Given the description of an element on the screen output the (x, y) to click on. 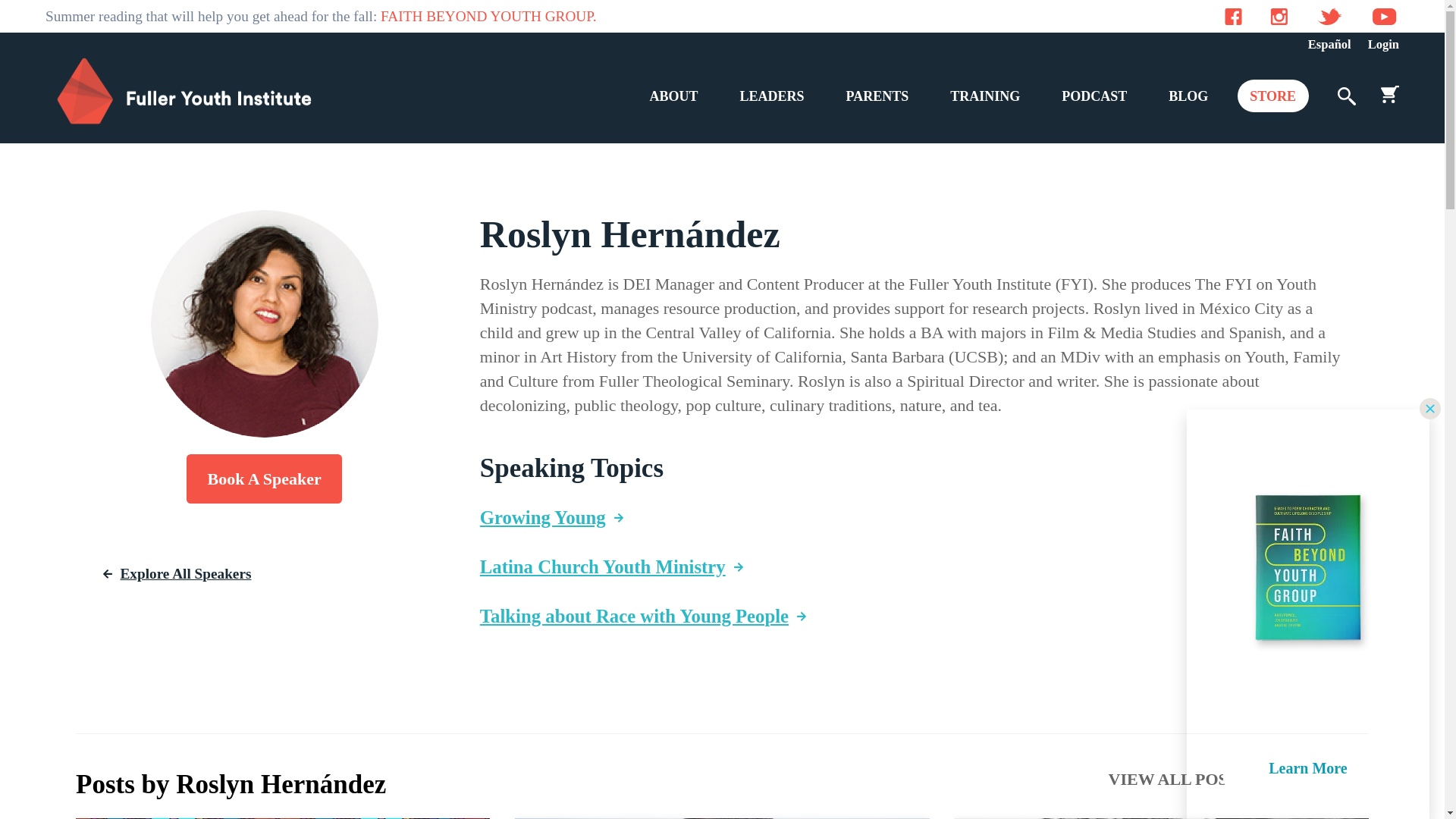
Twitter Feed for Fuller Youth Institute (1328, 15)
Facebook Page for Fuller Youth Institute (1233, 15)
Close (1430, 408)
Instagram Feed for Fuller Youth Institute (1279, 15)
Learn More (1308, 769)
FAITH BEYOND YOUTH GROUP. (487, 15)
No thanks. I'm not interested. (1308, 794)
YouTube Channel for Fuller Youth Institute (1384, 15)
